Given the description of an element on the screen output the (x, y) to click on. 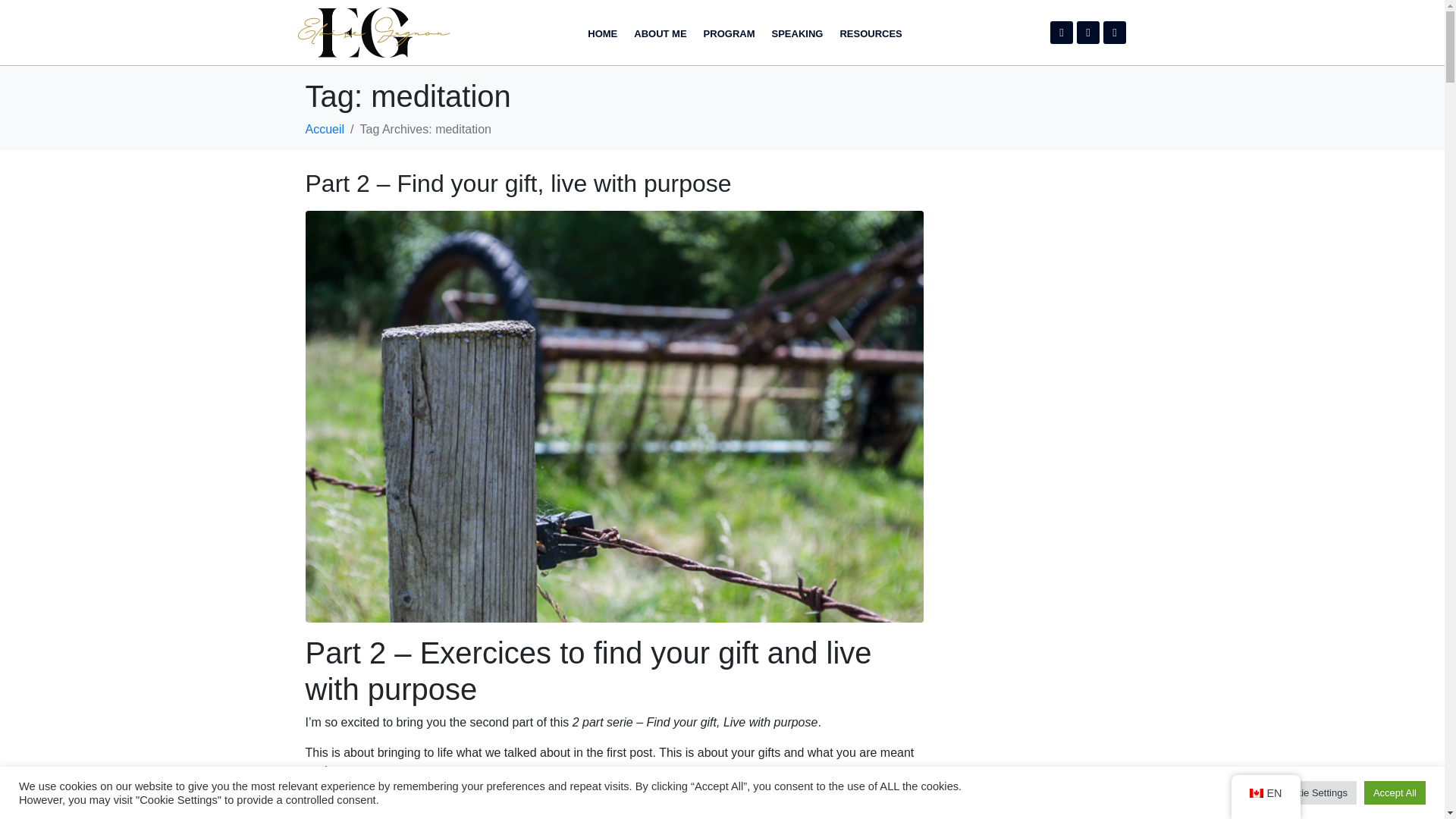
RESOURCES (870, 33)
PROGRAM (729, 33)
SPEAKING (797, 33)
Accueil (323, 128)
ABOUT ME (659, 33)
